Given the description of an element on the screen output the (x, y) to click on. 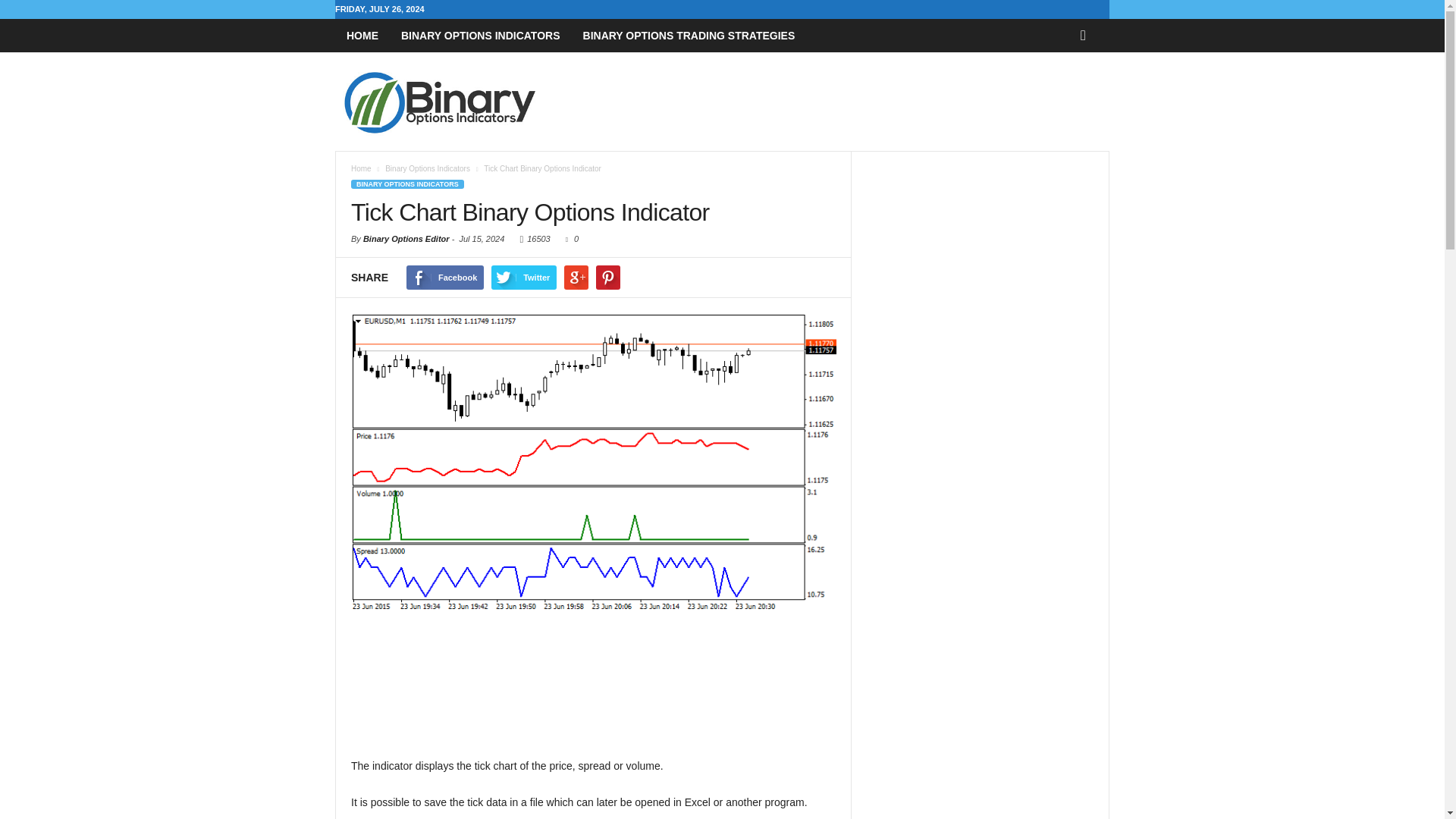
Facebook (444, 277)
View all posts in Binary Options Indicators (427, 168)
0 (568, 238)
Binary Options Indicators (427, 168)
Binary Options Editor (405, 238)
BINARY OPTIONS INDICATORS (481, 35)
Home (360, 168)
BINARY OPTIONS TRADING STRATEGIES (689, 35)
HOME (362, 35)
BINARY OPTIONS INDICATORS (407, 184)
Twitter (524, 277)
